Given the description of an element on the screen output the (x, y) to click on. 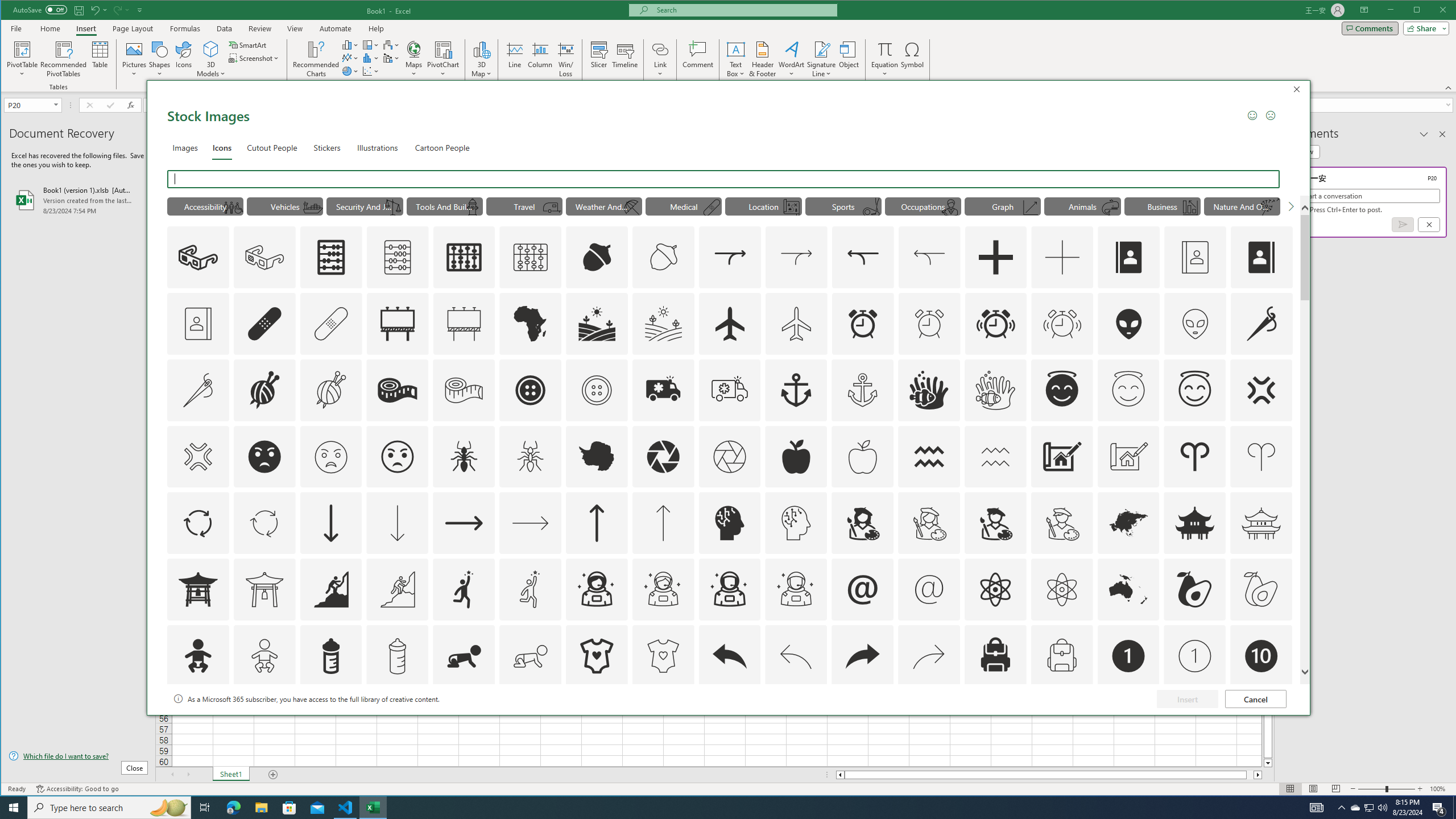
AutomationID: Icons_BarGraphUpwardTrend_RTL_M (1190, 207)
AutomationID: Icons_AngryFace_M (330, 456)
Action Center, 4 new notifications (1439, 807)
AutomationID: Icons_FireHydrant_M (473, 207)
PivotChart (443, 59)
